Given the description of an element on the screen output the (x, y) to click on. 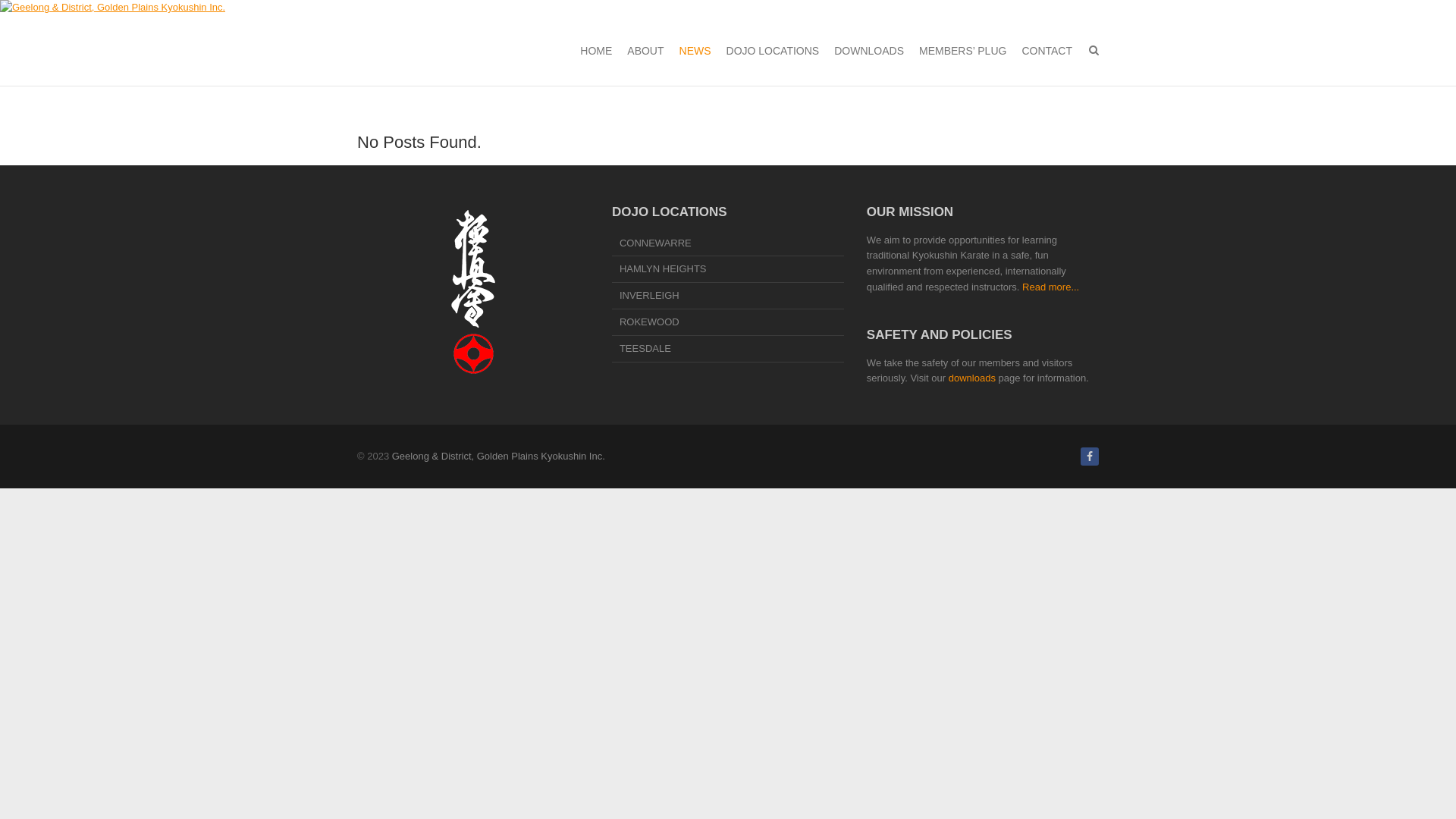
DOWNLOADS Element type: text (868, 50)
Geelong & District, Golden Plains Kyokushin Inc. on Facebook Element type: hover (1089, 456)
TEESDALE Element type: text (727, 350)
ABOUT Element type: text (645, 50)
NEWS Element type: text (695, 50)
HOME Element type: text (595, 50)
Geelong & District, Golden Plains Kyokushin Inc. Element type: text (498, 455)
DOJO LOCATIONS Element type: text (772, 50)
CONNEWARRE Element type: text (727, 244)
Kyokushin Karate Element type: hover (473, 290)
downloads Element type: text (971, 377)
INVERLEIGH Element type: text (727, 297)
ROKEWOOD Element type: text (727, 323)
CONTACT Element type: text (1046, 50)
HAMLYN HEIGHTS Element type: text (727, 270)
Read more... Element type: text (1050, 286)
